Given the description of an element on the screen output the (x, y) to click on. 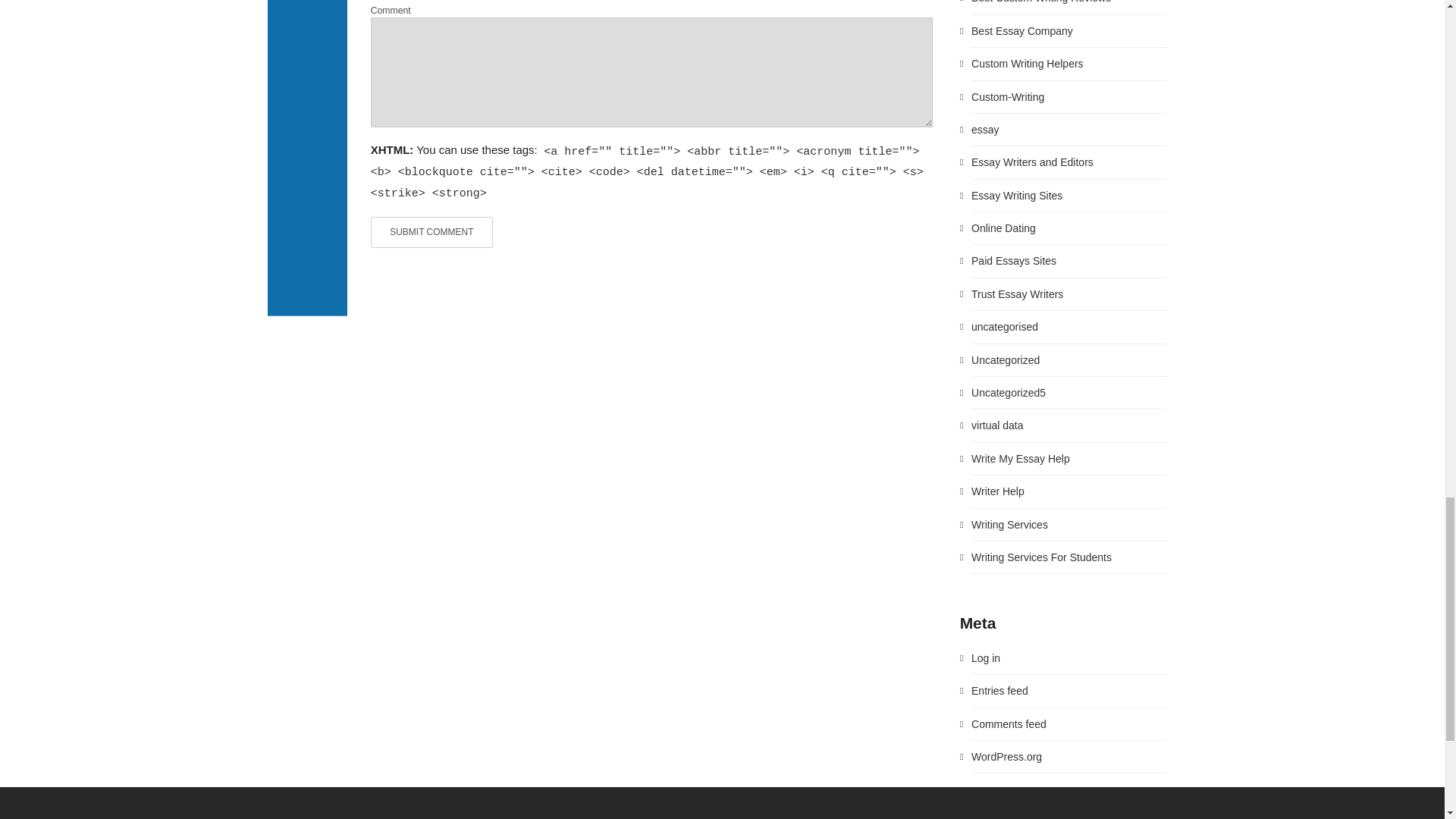
Submit Comment (432, 232)
Submit Comment (432, 232)
